Given the description of an element on the screen output the (x, y) to click on. 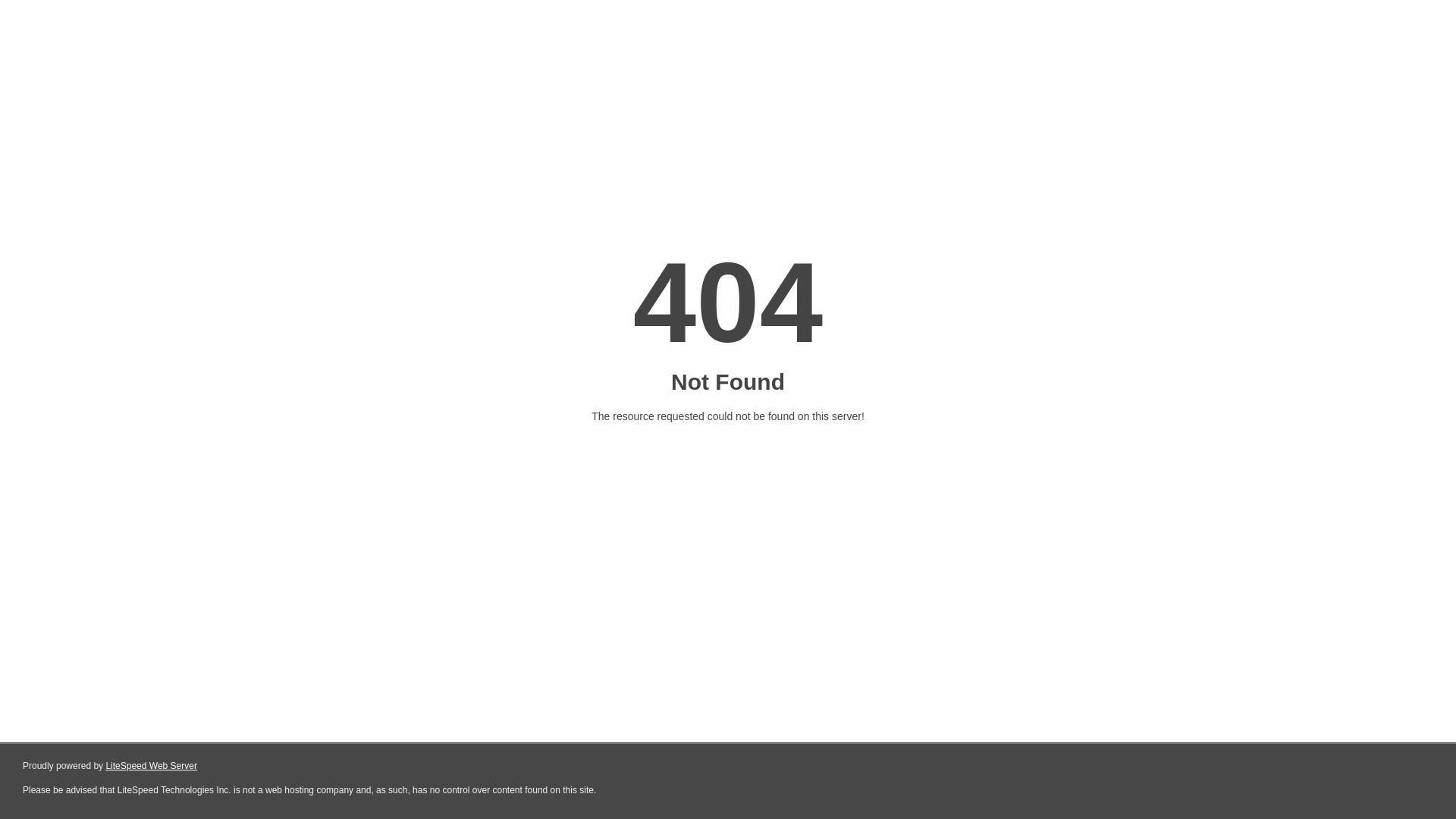
LiteSpeed Web Server Element type: text (151, 765)
